Given the description of an element on the screen output the (x, y) to click on. 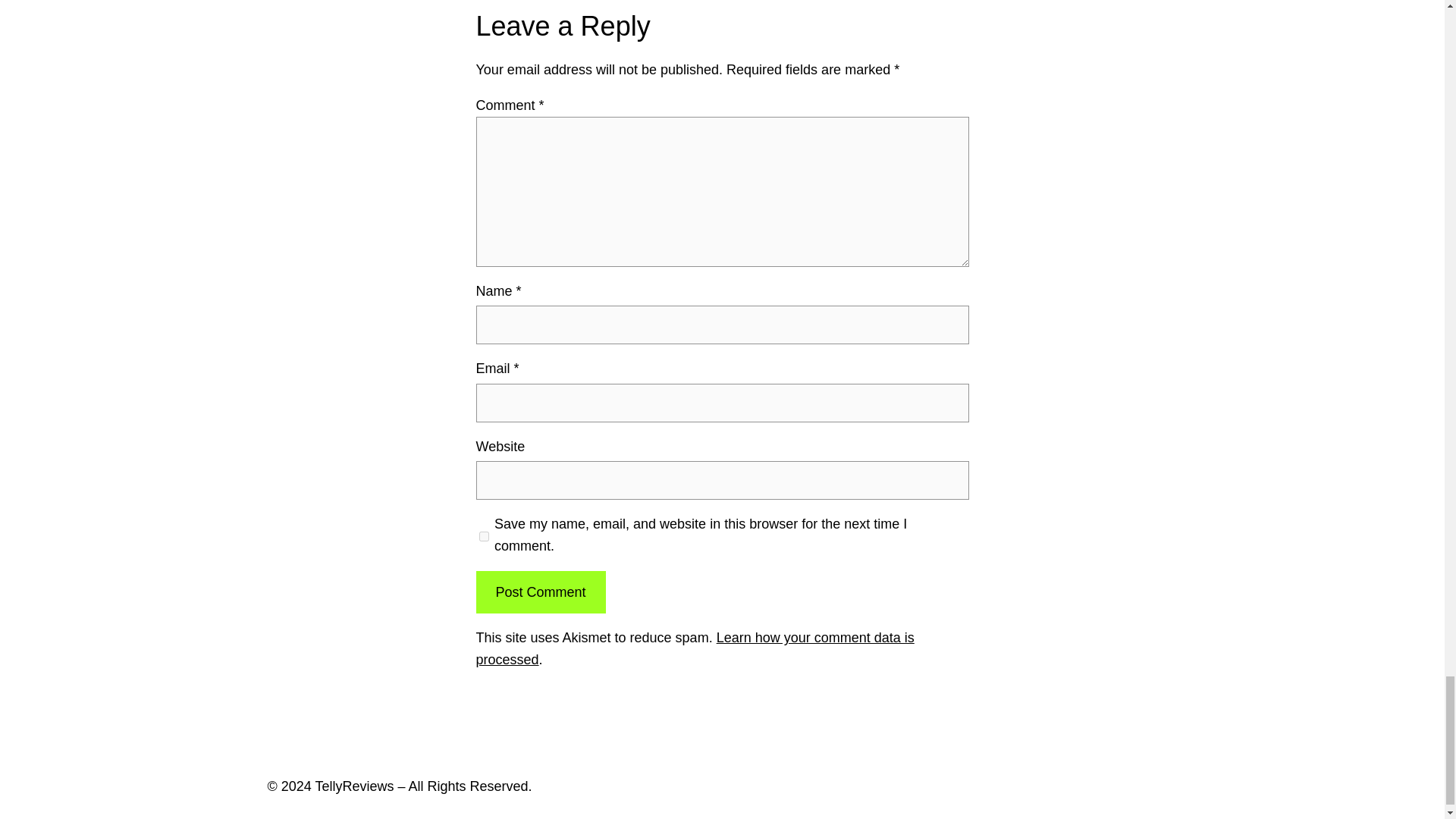
Post Comment (540, 591)
Post Comment (540, 591)
Learn how your comment data is processed (695, 648)
